Given the description of an element on the screen output the (x, y) to click on. 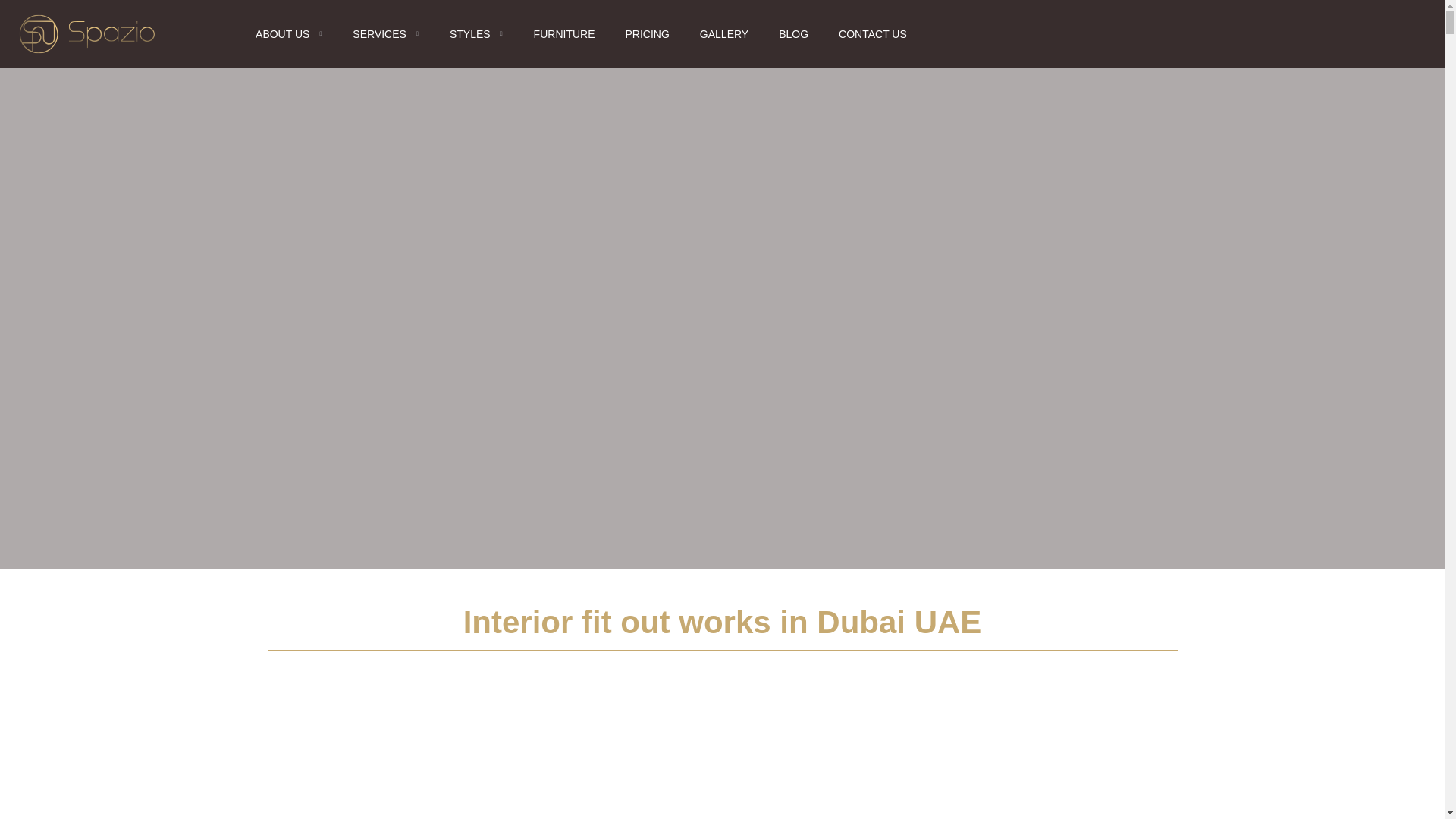
Spazio is one of the leading fit out companies in the UAE. (501, 712)
SERVICES (385, 33)
ABOUT US (288, 33)
CONTACT US (872, 33)
FURNITURE (564, 33)
